Given the description of an element on the screen output the (x, y) to click on. 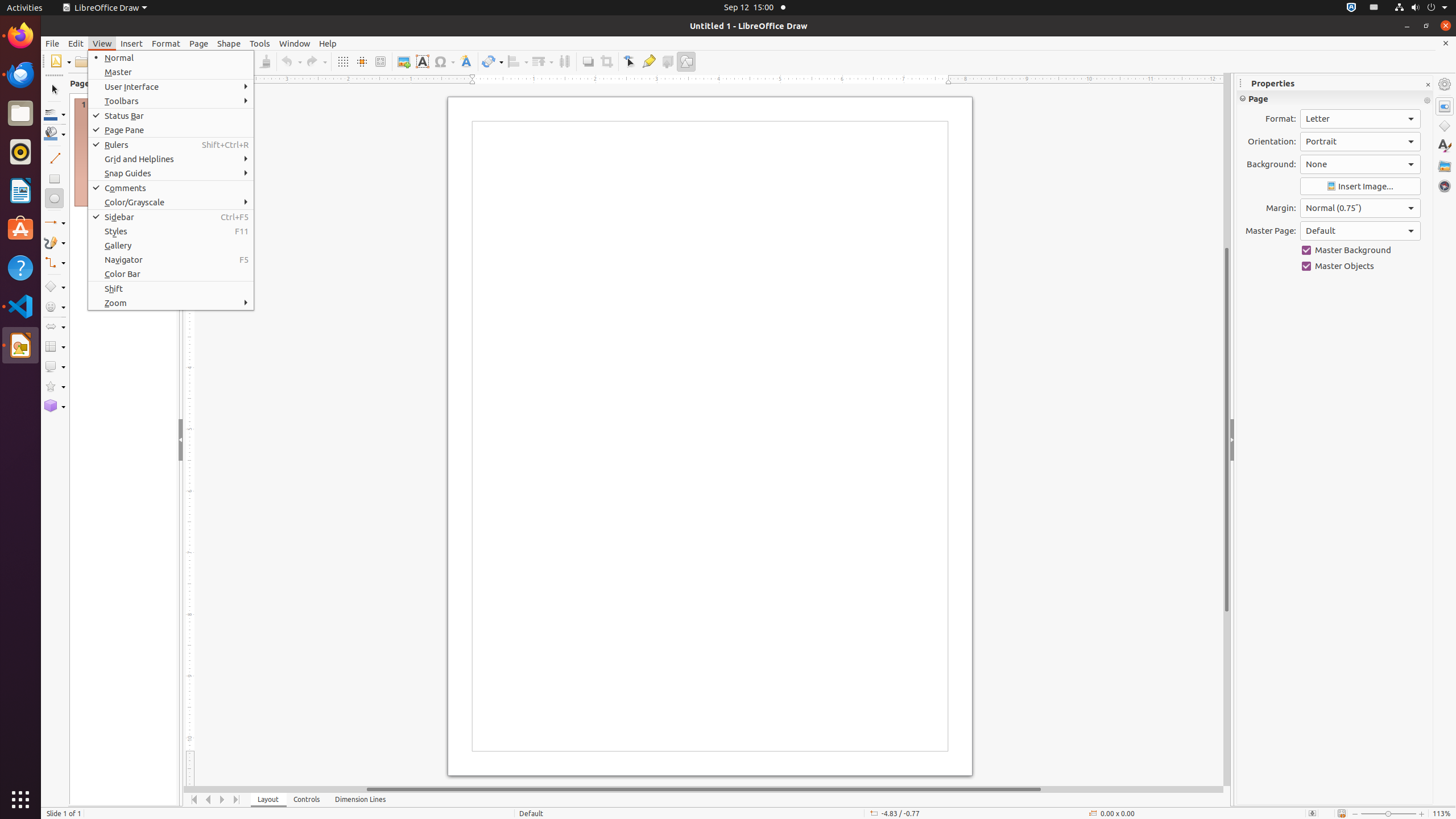
Toggle Extrusion Element type: push-button (667, 61)
Master Objects Element type: check-box (1360, 265)
Select Element type: push-button (53, 89)
Grid and Helplines Element type: menu (170, 158)
:1.72/StatusNotifierItem Element type: menu (1350, 7)
